Given the description of an element on the screen output the (x, y) to click on. 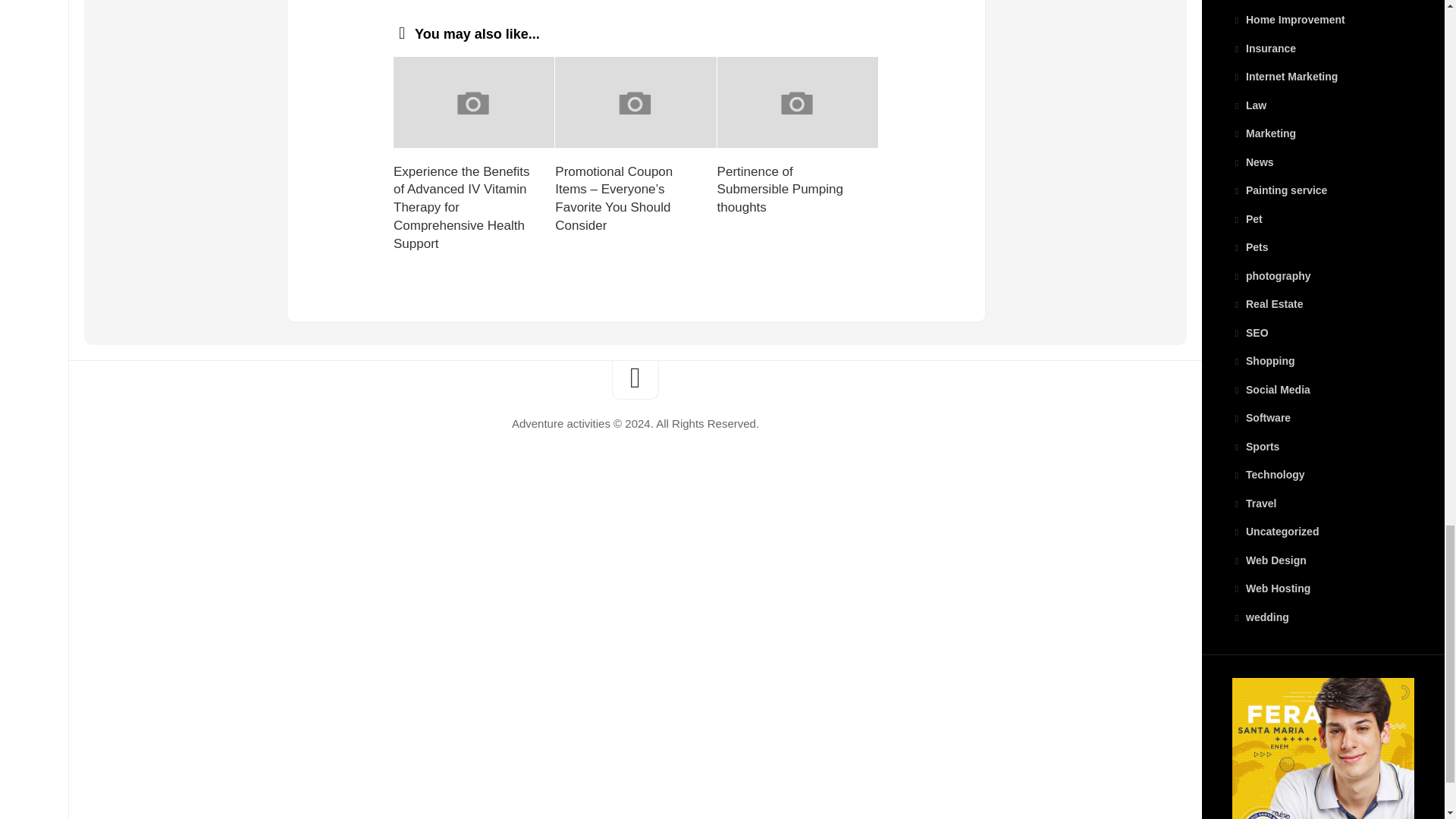
Law (1248, 105)
Internet Marketing (1284, 76)
Insurance (1263, 48)
Home Improvement (1288, 19)
